Given the description of an element on the screen output the (x, y) to click on. 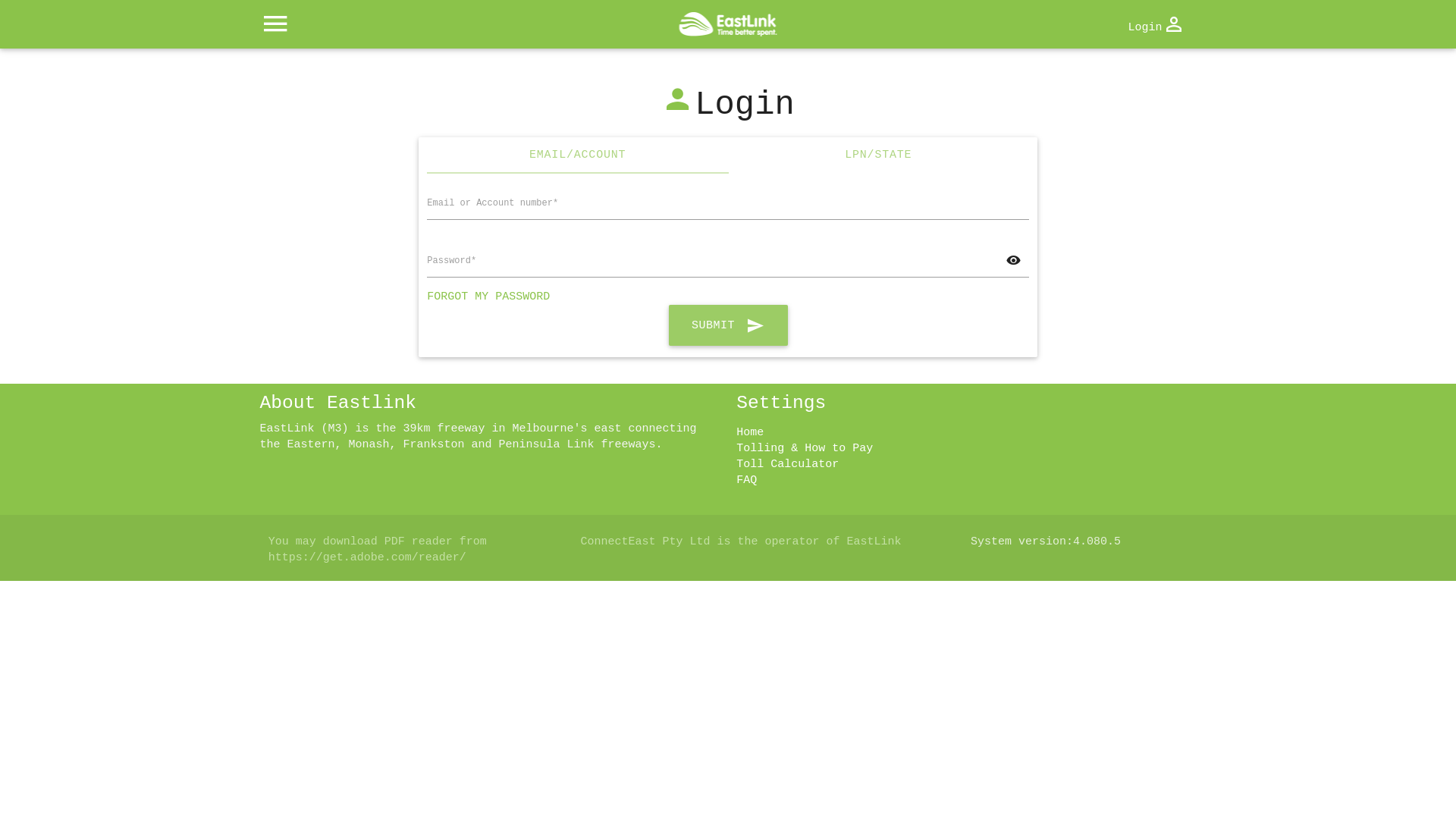
Login Element type: text (1155, 26)
Toll Calculator Element type: text (787, 464)
EMAIL/ACCOUNT Element type: text (577, 155)
LPN/STATE Element type: text (878, 155)
Tolling & How to Pay Element type: text (804, 448)
https://get.adobe.com/reader/ Element type: text (367, 557)
FAQ Element type: text (746, 479)
ConnectEast Pty Ltd is the operator of EastLink Element type: text (740, 541)
Home Element type: text (749, 432)
FORGOT MY PASSWORD Element type: text (487, 296)
SUBMIT Element type: text (727, 324)
